Given the description of an element on the screen output the (x, y) to click on. 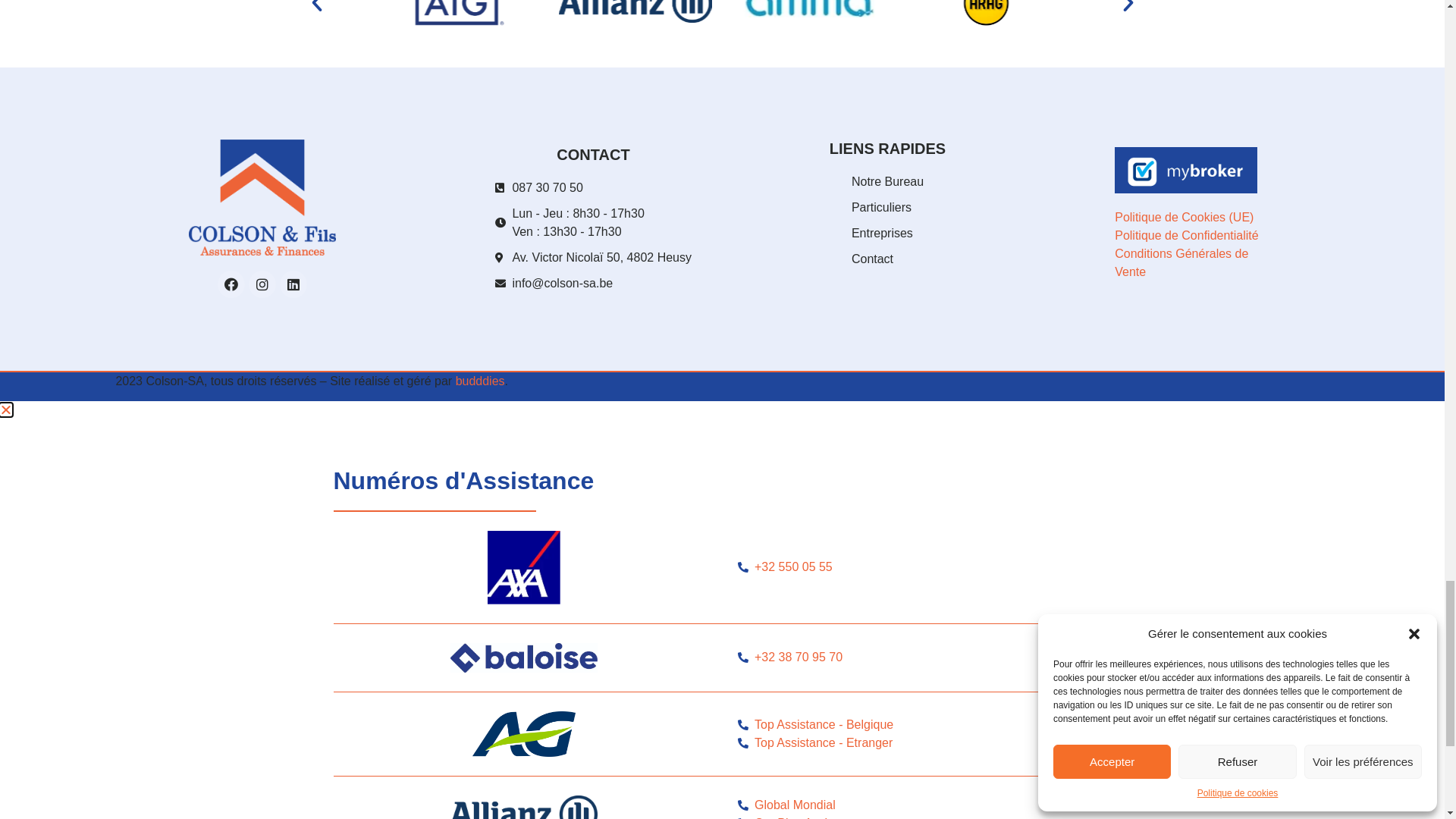
NOTRE BUREAU Element type: text (556, 65)
Nous Contacter Element type: text (545, 440)
PARTICULIERS Element type: text (682, 65)
Pourquoi un Courtier ? Element type: text (879, 440)
CONTACT Element type: text (905, 65)
info@colson-sa.be Element type: text (770, 17)
SINISTRE Element type: text (1308, 64)
087 30 70 50 Element type: text (640, 17)
Notre Mission Element type: text (703, 440)
ENTREPRISE Element type: text (799, 65)
